Given the description of an element on the screen output the (x, y) to click on. 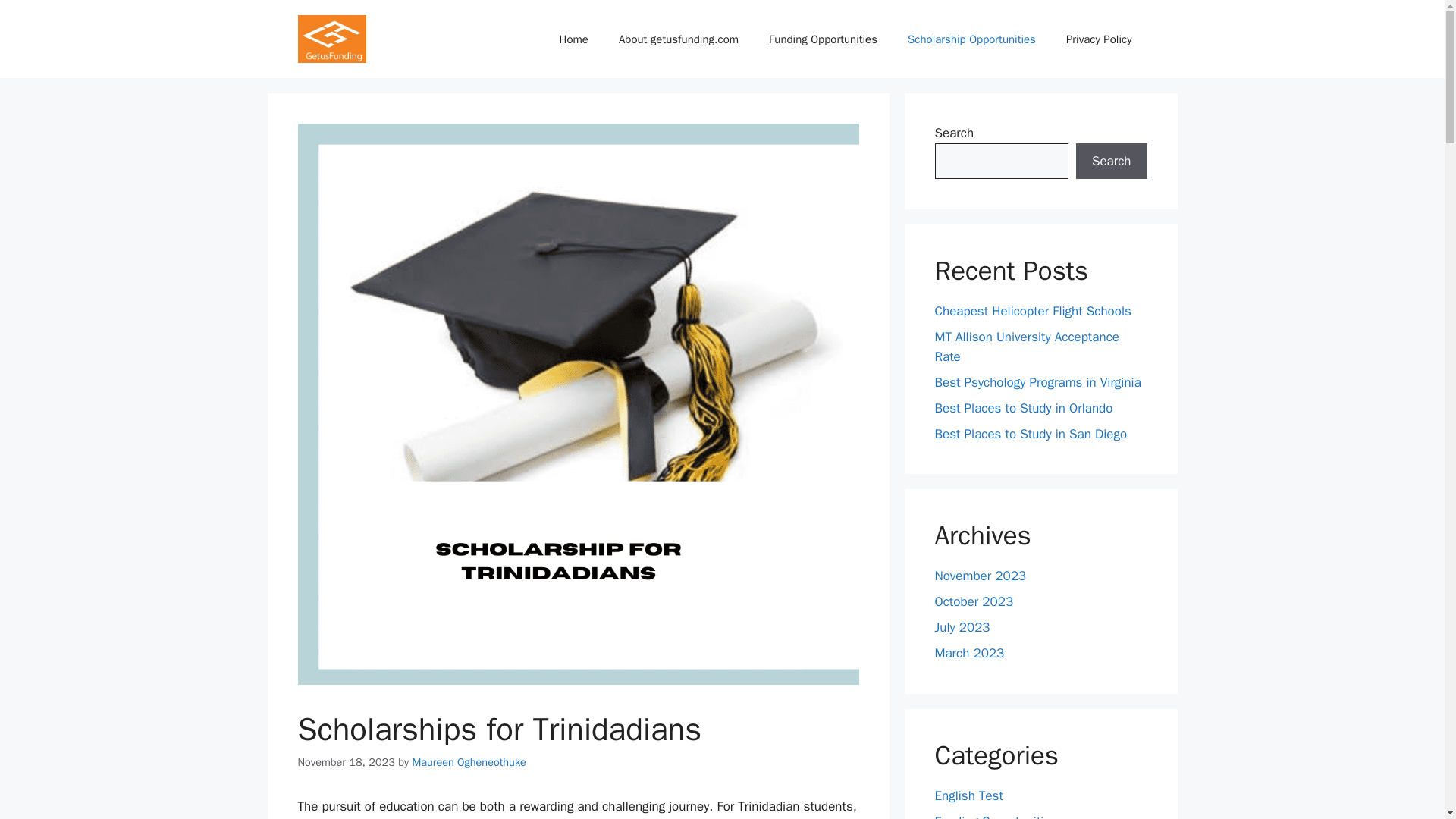
Best Places to Study in San Diego (1030, 433)
Privacy Policy (1099, 39)
Best Psychology Programs in Virginia (1037, 382)
Scholarship Opportunities (971, 39)
View all posts by Maureen Ogheneothuke (468, 762)
Maureen Ogheneothuke (468, 762)
Cheapest Helicopter Flight Schools (1032, 311)
MT Allison University Acceptance Rate (1026, 346)
About getusfunding.com (679, 39)
July 2023 (962, 627)
